Given the description of an element on the screen output the (x, y) to click on. 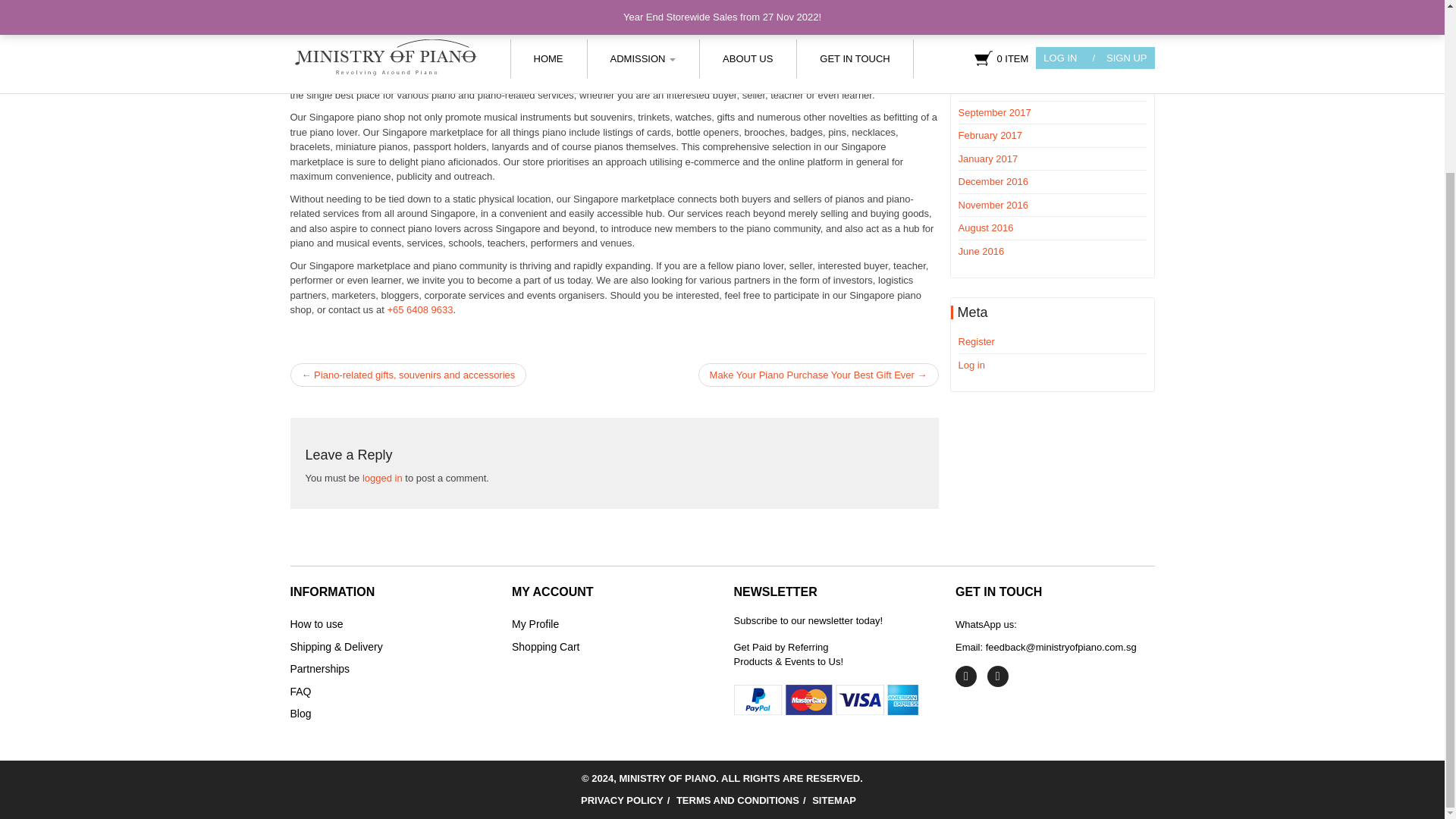
June 2016 (981, 250)
How PayPal Works (825, 698)
Register (976, 341)
December 2016 (993, 181)
February 2017 (990, 134)
October 2017 (987, 89)
September 2017 (994, 112)
January 2018 (987, 19)
November 2016 (993, 204)
logged in (382, 478)
December 2017 (993, 42)
January 2017 (987, 157)
February 2018 (990, 1)
August 2016 (985, 227)
